Given the description of an element on the screen output the (x, y) to click on. 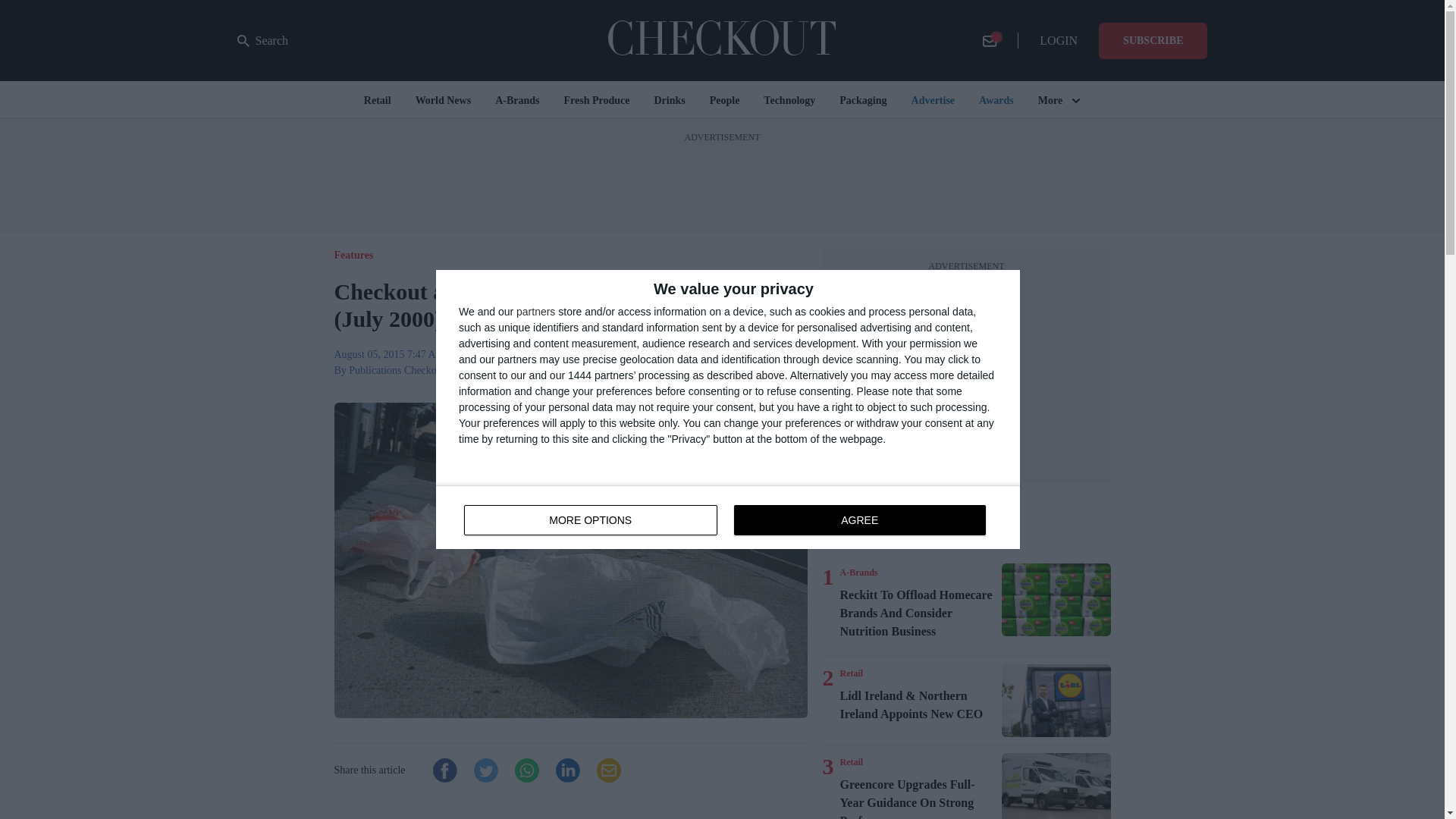
A-Brands (858, 572)
Search (261, 40)
Retail (851, 673)
Retail (727, 516)
Greencore Upgrades Full-Year Guidance On Strong Performance (851, 761)
